Given the description of an element on the screen output the (x, y) to click on. 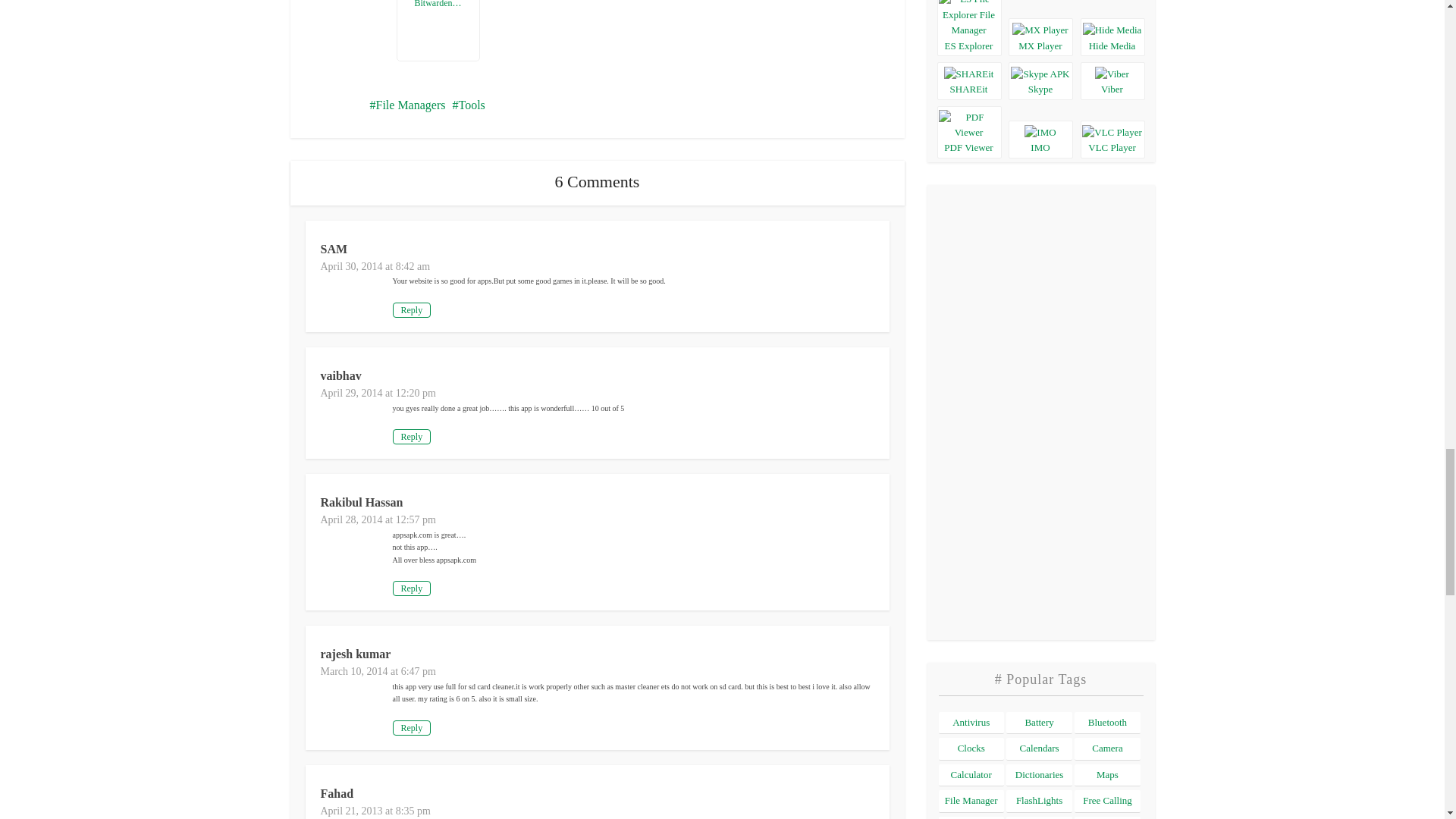
March 10, 2014 at 6:47 pm (377, 671)
Reply (411, 727)
April 29, 2014 at 12:20 pm (377, 392)
April 21, 2013 at 8:35 pm (374, 810)
Reply (411, 309)
Reply (411, 436)
Reply (411, 588)
Tools (467, 104)
April 28, 2014 at 12:57 pm (377, 519)
April 30, 2014 at 8:42 am (374, 266)
